Given the description of an element on the screen output the (x, y) to click on. 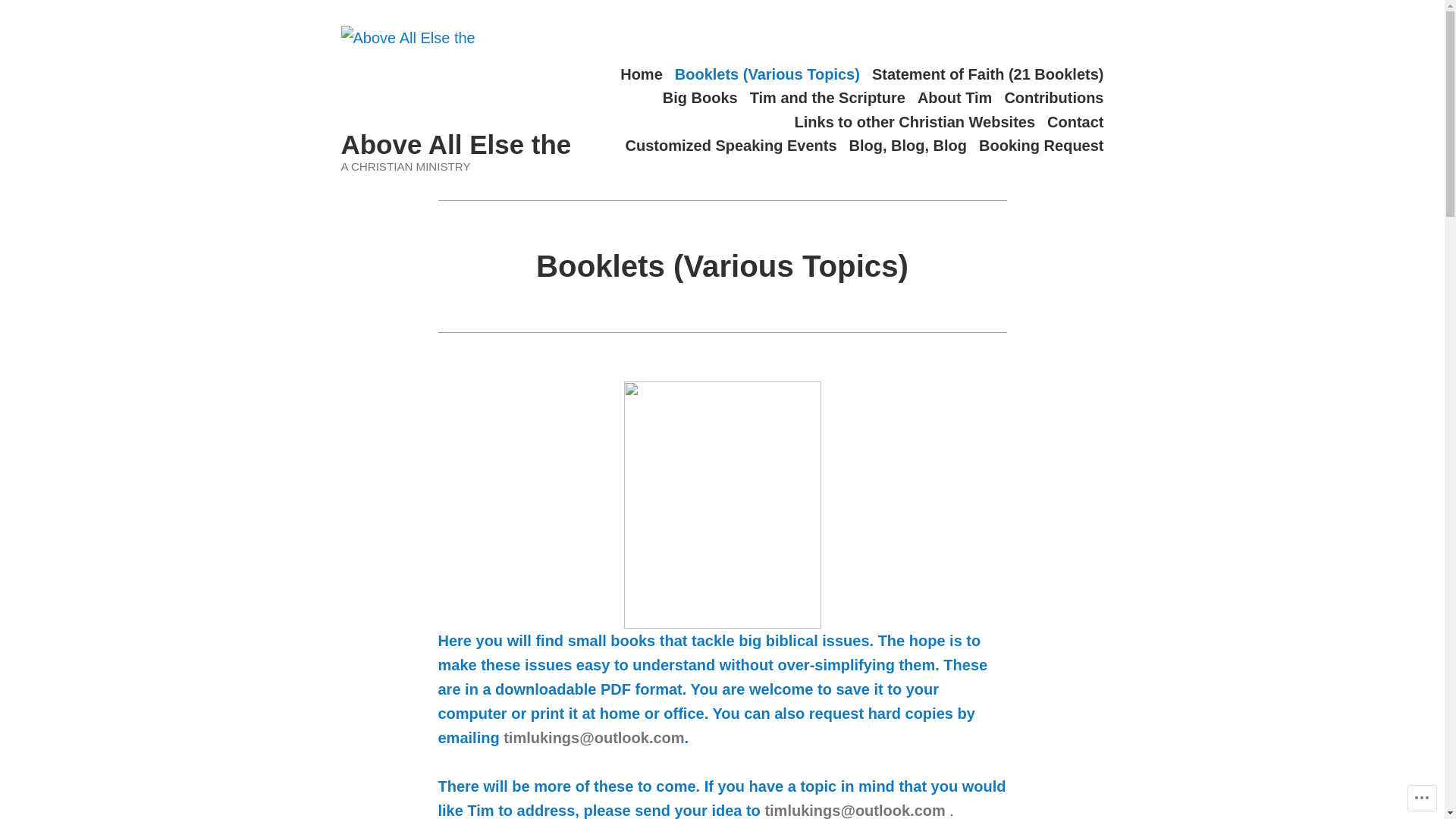
Customized Speaking Events Element type: text (731, 144)
Home Element type: text (641, 73)
Blog, Blog, Blog Element type: text (908, 144)
Above All Else the Element type: text (456, 144)
Tim and the Scripture Element type: text (827, 97)
Contact Element type: text (1075, 121)
Statement of Faith (21 Booklets) Element type: text (988, 73)
Booking Request Element type: text (1041, 144)
About Tim Element type: text (954, 97)
Links to other Christian Websites Element type: text (914, 121)
Contributions Element type: text (1053, 97)
Big Books Element type: text (699, 97)
Booklets (Various Topics) Element type: text (766, 73)
